Given the description of an element on the screen output the (x, y) to click on. 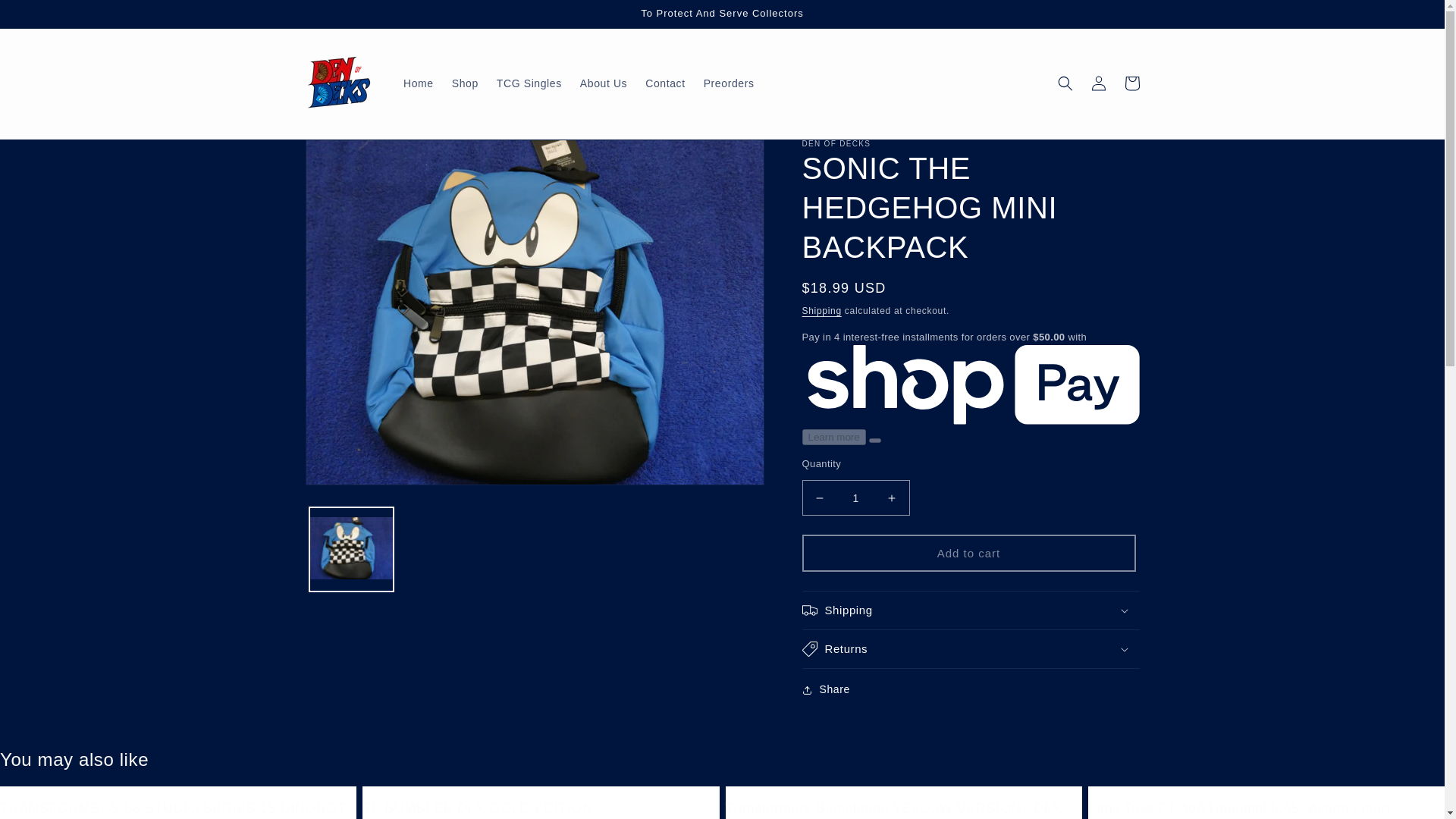
Decrease quantity for SONIC THE HEDGEHOG MINI BACKPACK (818, 497)
Skip to product information (351, 157)
About Us (603, 83)
Shop (464, 83)
Preorders (728, 83)
Home (418, 83)
Contact (665, 83)
Add to cart (968, 552)
Increase quantity for SONIC THE HEDGEHOG MINI BACKPACK (891, 497)
Shipping (821, 310)
Skip to content (46, 18)
TCG Singles (528, 83)
Cart (1131, 82)
Log in (1098, 82)
1 (856, 497)
